Given the description of an element on the screen output the (x, y) to click on. 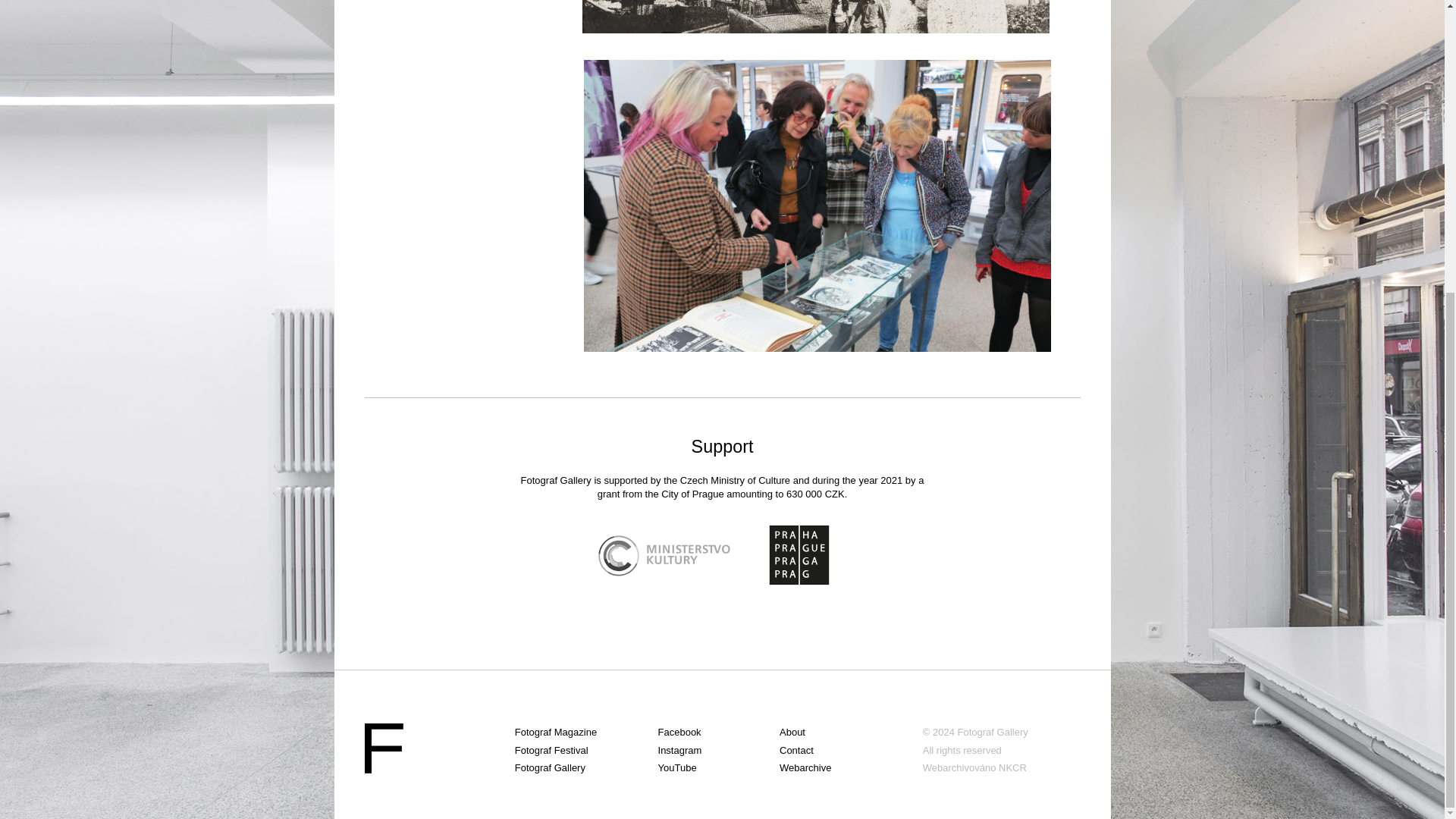
Fotograf Magazine (586, 732)
Facebook (718, 732)
Webarchive (850, 767)
Fotograf Festival (586, 750)
Fotograf Gallery (992, 731)
About (850, 732)
Next (1021, 183)
Contact (850, 750)
Previous (600, 183)
Instagram (718, 750)
